Given the description of an element on the screen output the (x, y) to click on. 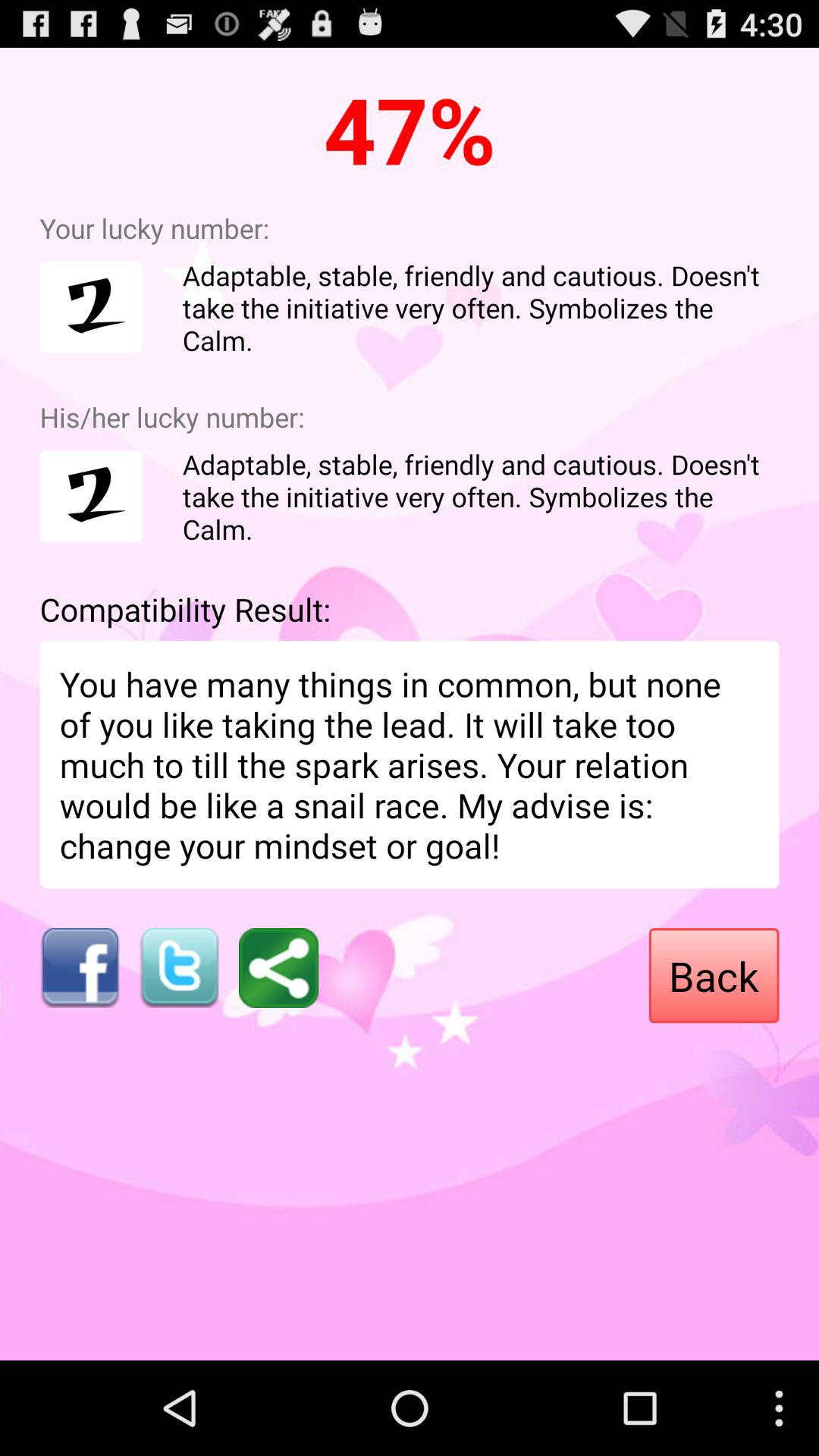
share button (278, 967)
